Given the description of an element on the screen output the (x, y) to click on. 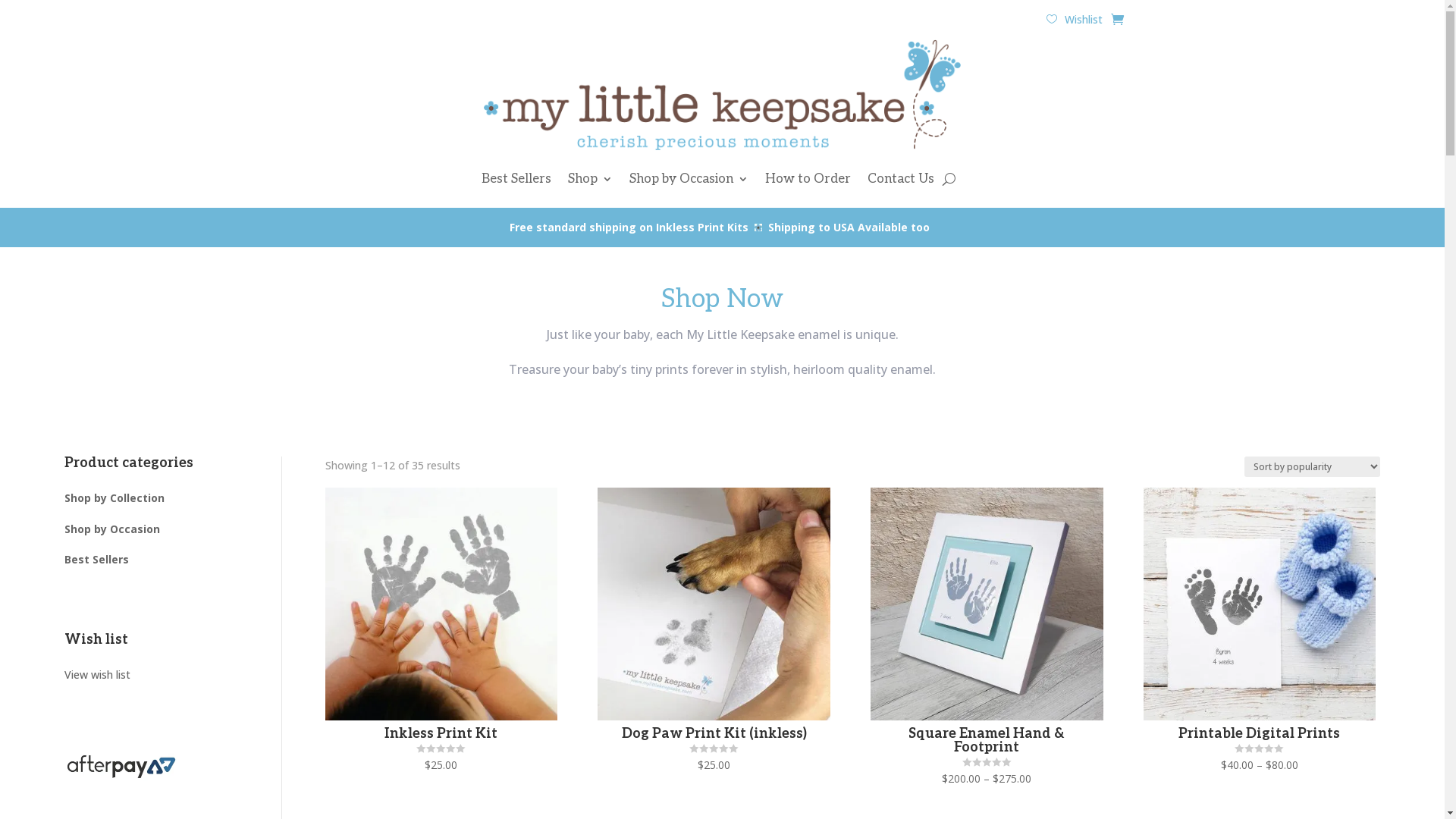
Best Sellers Element type: text (515, 178)
Shop by Collection Element type: text (114, 497)
Contact Us Element type: text (900, 178)
Wishlist Element type: text (1074, 19)
Best Sellers Element type: text (96, 559)
How to Order Element type: text (807, 178)
Shop by Occasion Element type: text (688, 178)
Shop by Occasion Element type: text (112, 528)
View wish list Element type: text (101, 674)
Shop Element type: text (589, 178)
Inkless Print Kit
Rated
out of 5
$25.00 Element type: text (441, 631)
Dog Paw Print Kit (inkless)
Rated
out of 5
$25.00 Element type: text (713, 631)
